Given the description of an element on the screen output the (x, y) to click on. 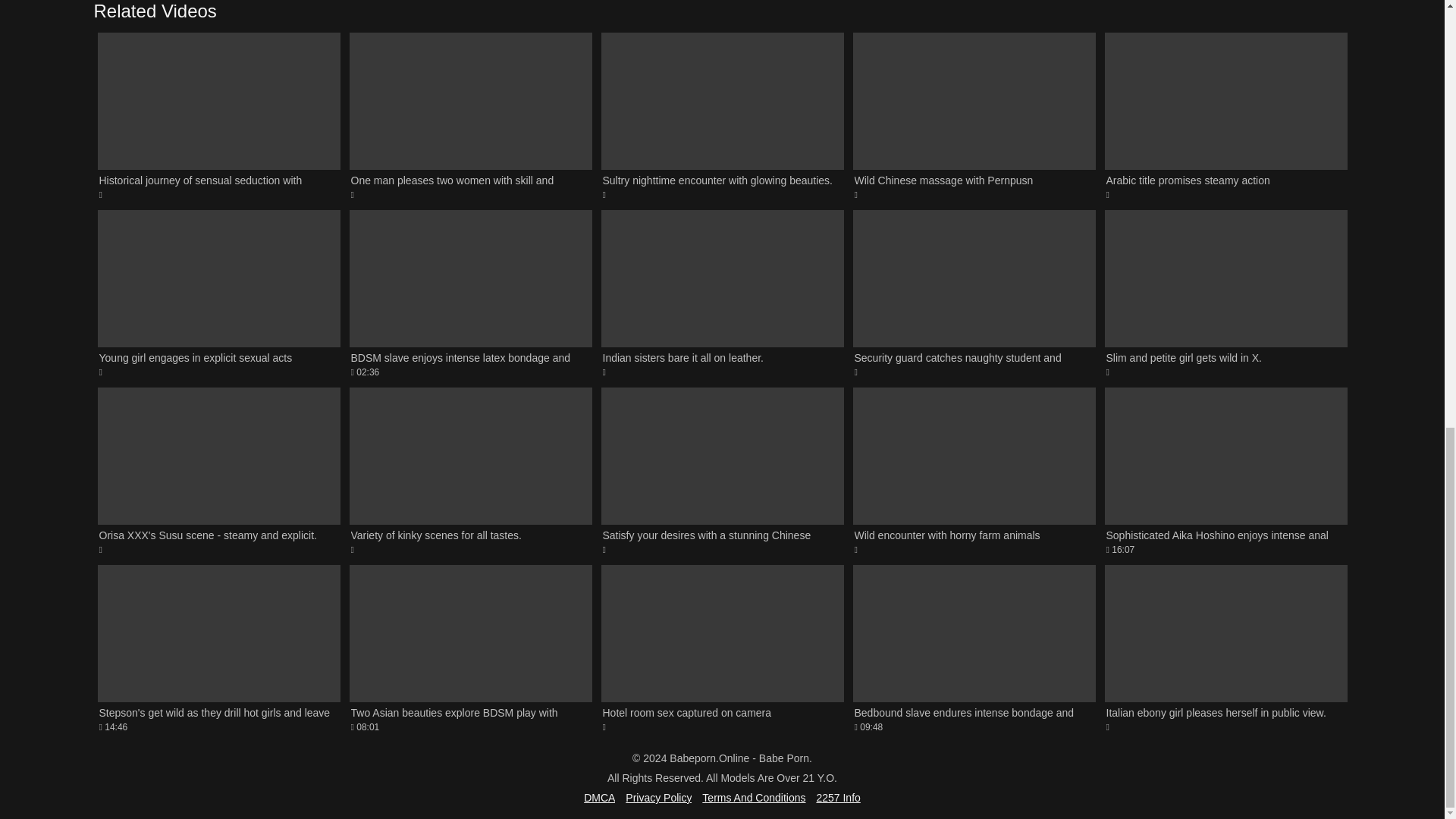
Hotel room sex captured on camera (721, 649)
Bedbound slave endures intense bondage and teasing (972, 649)
Sultry nighttime encounter with glowing beauties. (721, 115)
Historical journey of sensual seduction with Carmilla (218, 115)
Terms And Conditions (753, 797)
Indian sisters bare it all on leather. (721, 293)
Historical journey of sensual seduction with Carmilla (218, 115)
Slim and petite girl gets wild in X. (1224, 293)
Young girl engages in explicit sexual acts (218, 293)
